Given the description of an element on the screen output the (x, y) to click on. 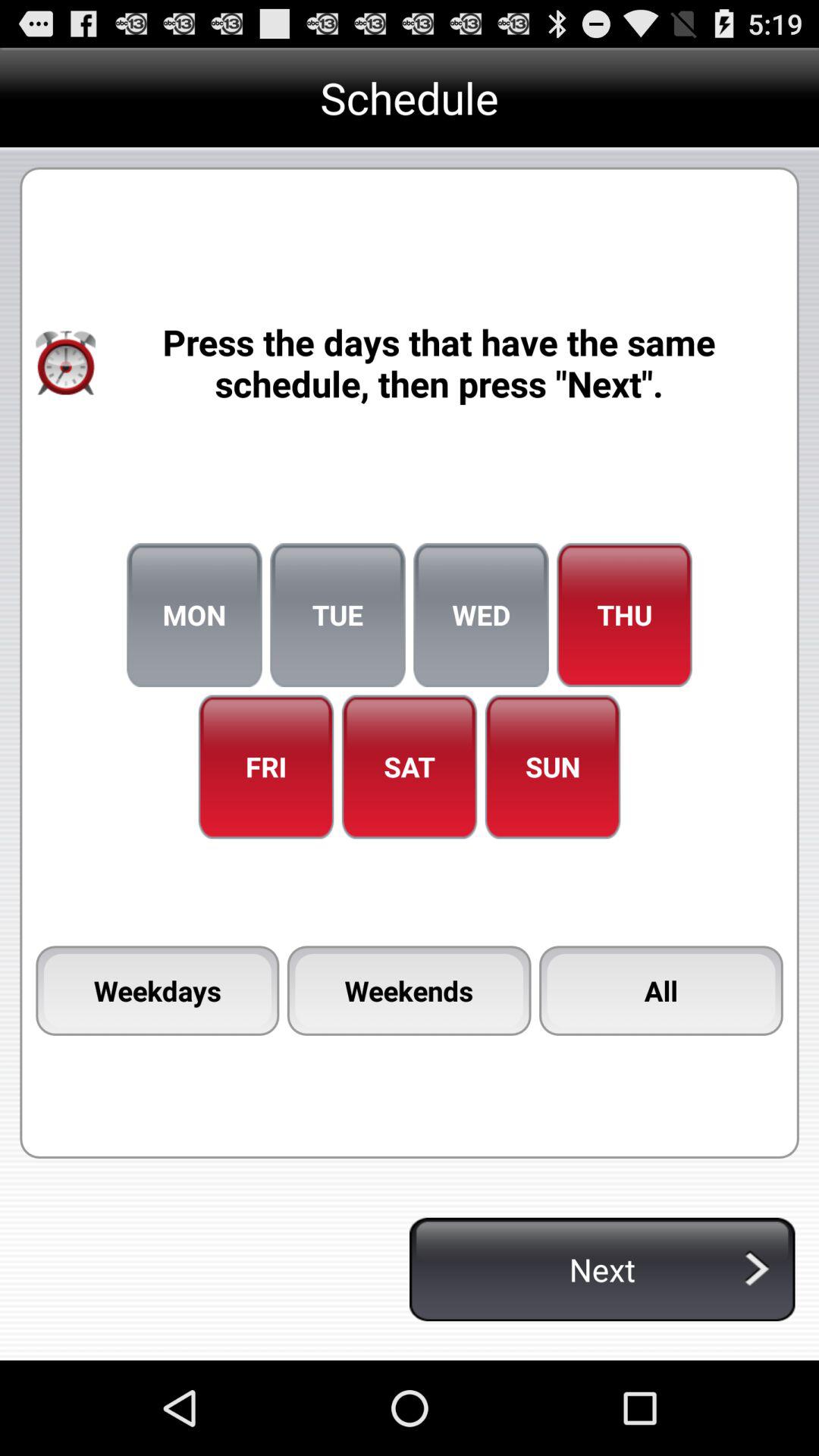
select sat icon (409, 766)
